Given the description of an element on the screen output the (x, y) to click on. 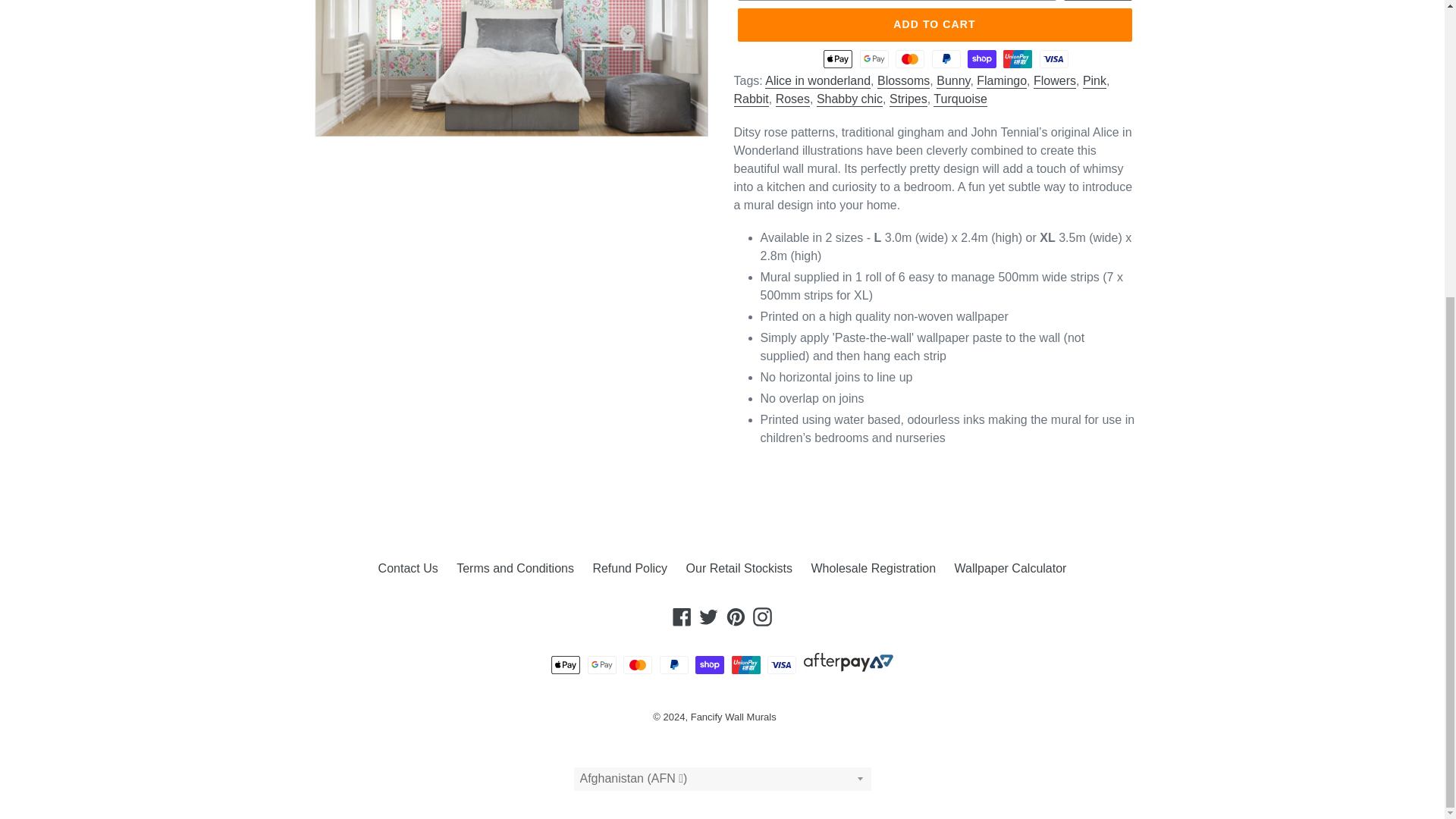
Apple Pay (565, 665)
Google Pay (601, 665)
1 (1096, 0)
Mastercard (637, 665)
